Given the description of an element on the screen output the (x, y) to click on. 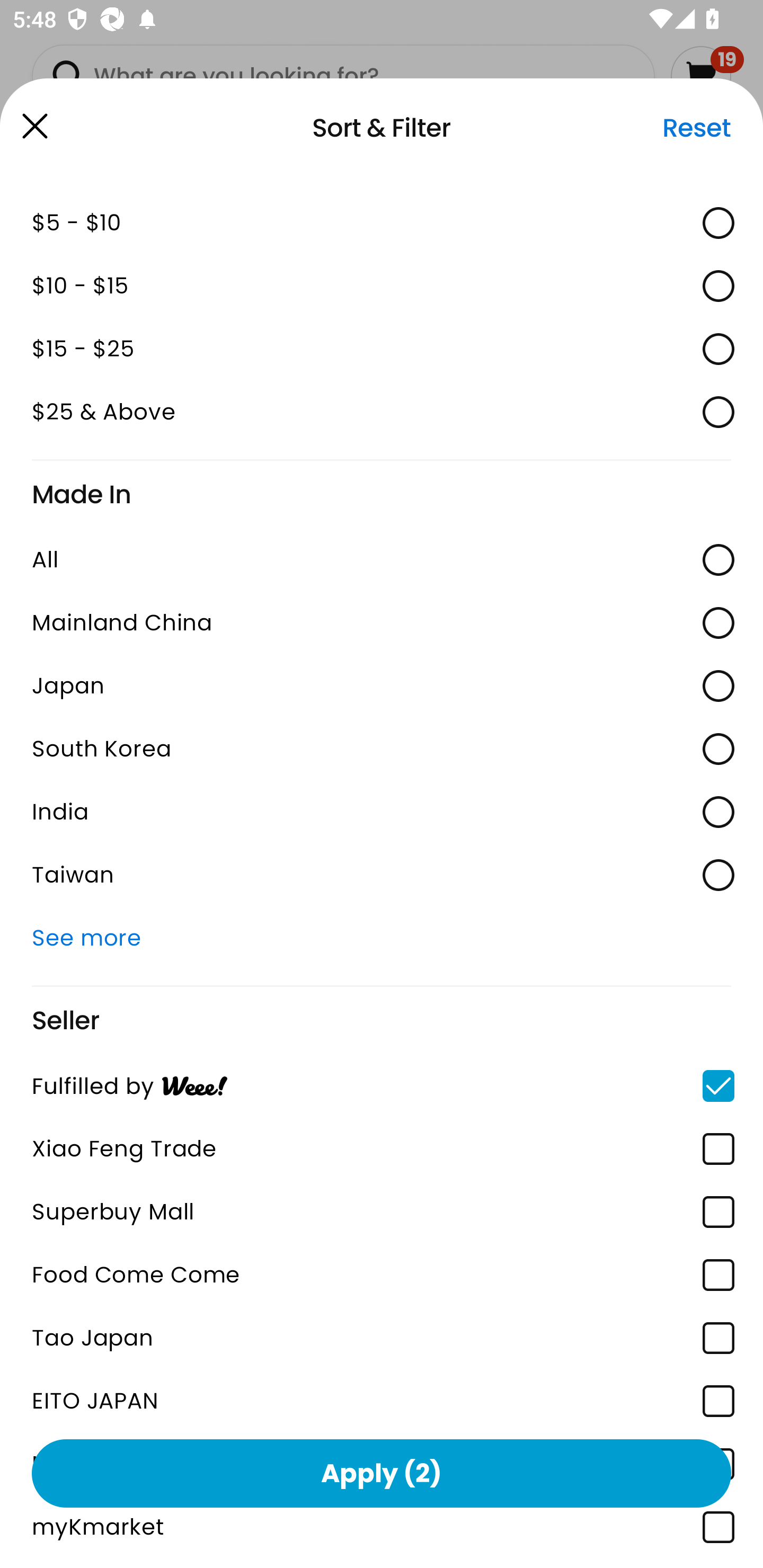
Reset (696, 127)
See more (381, 937)
Apply (2) (381, 1472)
